Given the description of an element on the screen output the (x, y) to click on. 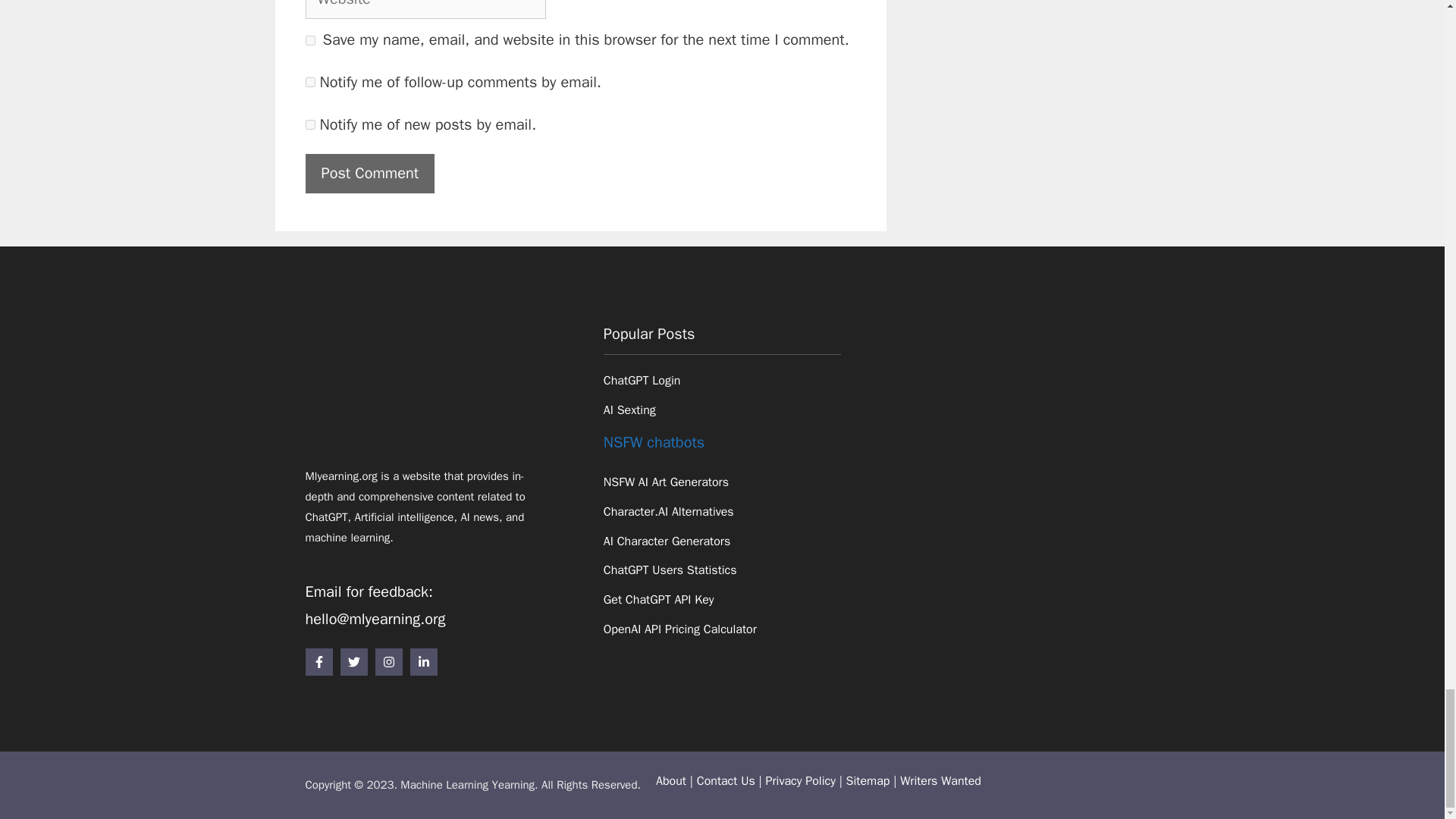
Post Comment (368, 173)
Post Comment (368, 173)
subscribe (309, 81)
subscribe (309, 124)
yes (309, 40)
